Given the description of an element on the screen output the (x, y) to click on. 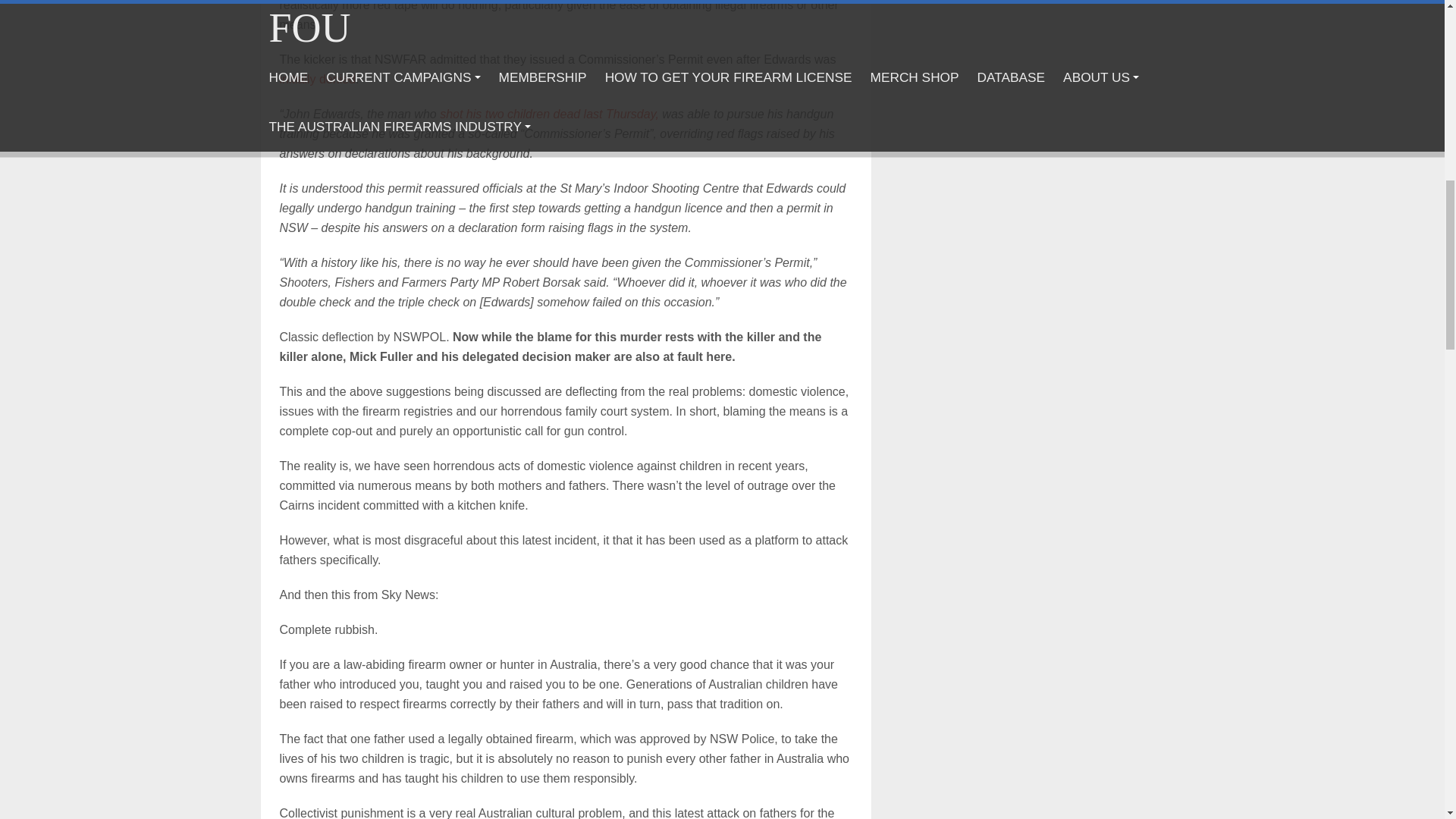
shot his two children dead last Thursday, (549, 113)
initially denied (317, 78)
